Given the description of an element on the screen output the (x, y) to click on. 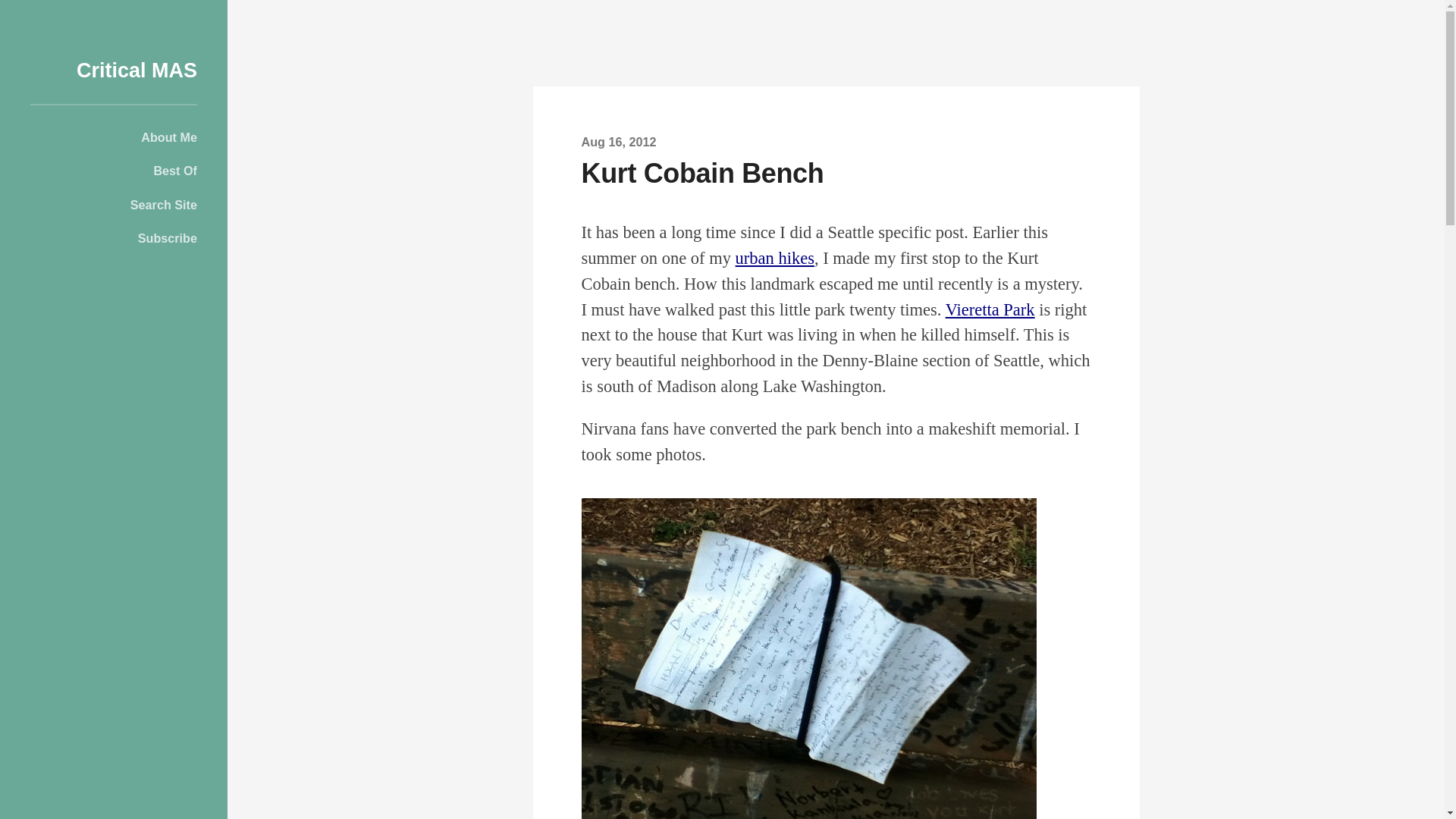
Search Site (113, 204)
About Me (113, 136)
Subscribe (113, 238)
Aug 16, 2012 (618, 141)
urban hikes (774, 257)
Best Of (113, 170)
Critical MAS (136, 69)
Vieretta Park (989, 309)
